Given the description of an element on the screen output the (x, y) to click on. 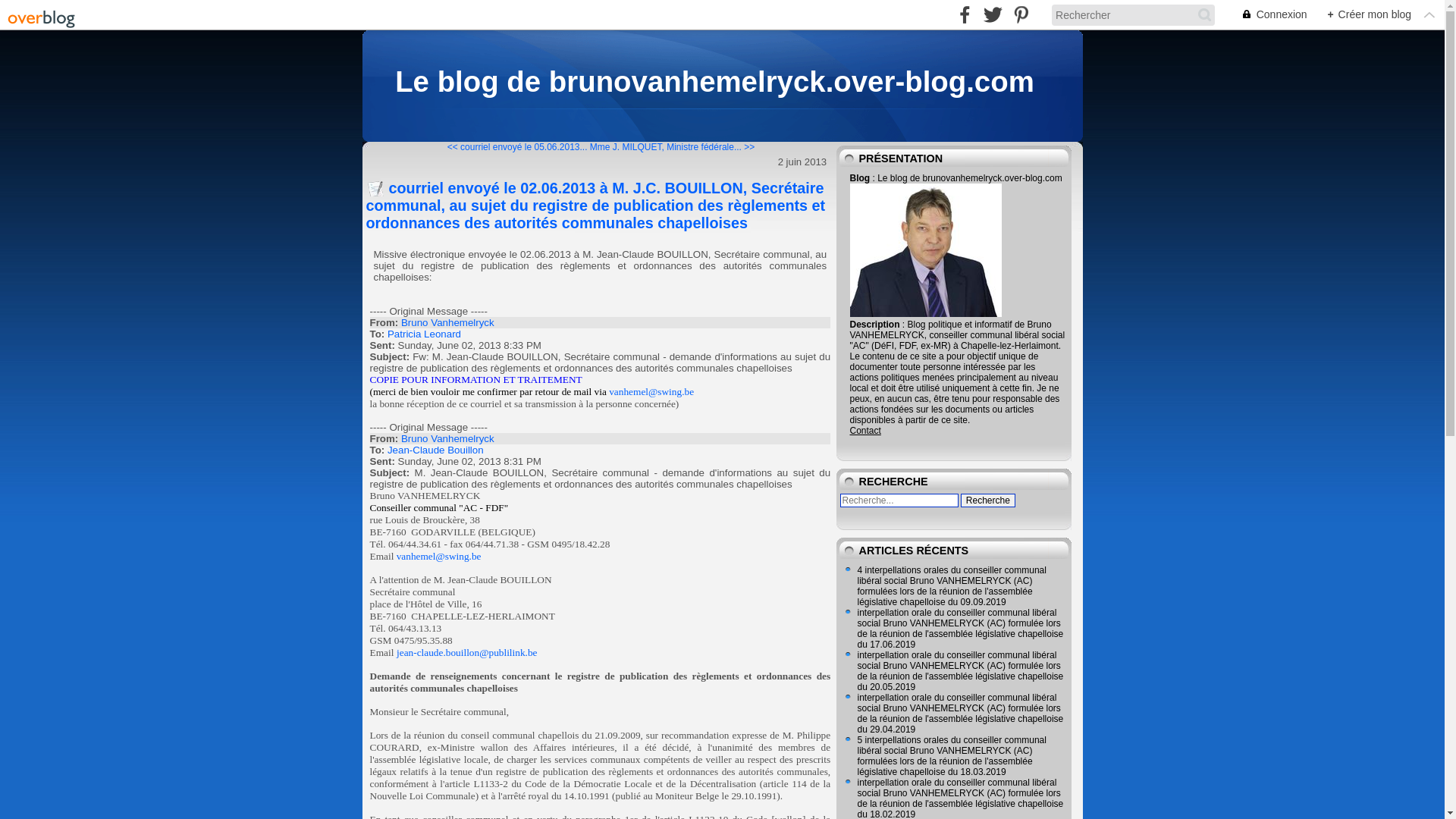
Contact Element type: text (864, 430)
 facebook Element type: hover (964, 14)
 twitter Element type: hover (992, 14)
Patricia Leonard Element type: text (424, 333)
 pinterest Element type: hover (1020, 14)
Connexion Element type: text (1266, 14)
Bruno Vanhemelryck Element type: text (447, 322)
jean-claude.bouillon@publilink.be Element type: text (466, 652)
Le blog de brunovanhemelryck.over-blog.com Element type: text (714, 81)
Jean-Claude Bouillon Element type: text (435, 449)
vanhemel@swing.be Element type: text (438, 555)
Recherche Element type: text (987, 500)
Bruno Vanhemelryck Element type: text (447, 438)
vanhemel@swing.be Element type: text (650, 391)
